Given the description of an element on the screen output the (x, y) to click on. 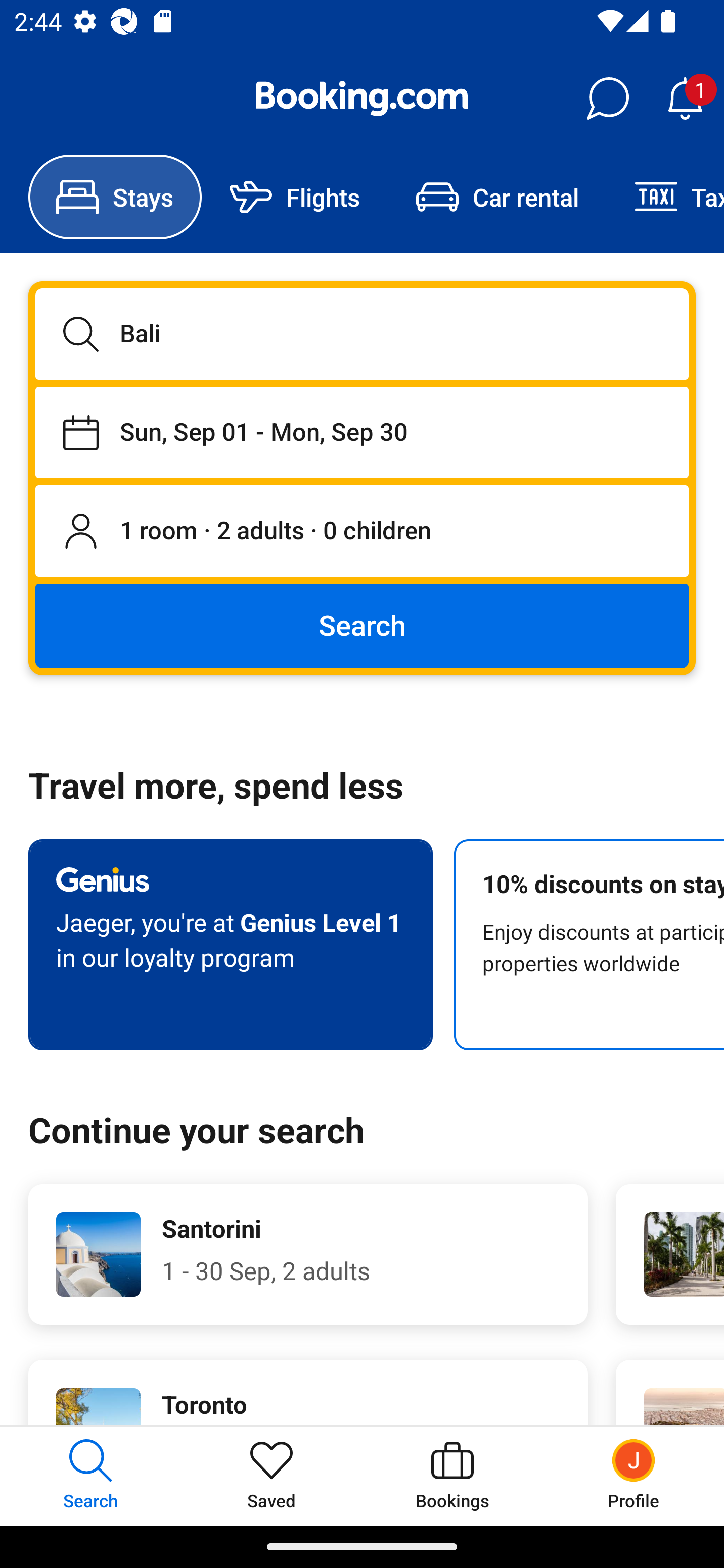
Messages (607, 98)
Notifications (685, 98)
Stays (114, 197)
Flights (294, 197)
Car rental (497, 197)
Taxi (665, 197)
Bali (361, 333)
Staying from Sun, Sep 01 until Mon, Sep 30 (361, 432)
1 room, 2 adults, 0 children (361, 531)
Search (361, 625)
Santorini 1 - 30 Sep, 2 adults (307, 1253)
Saved (271, 1475)
Bookings (452, 1475)
Profile (633, 1475)
